Given the description of an element on the screen output the (x, y) to click on. 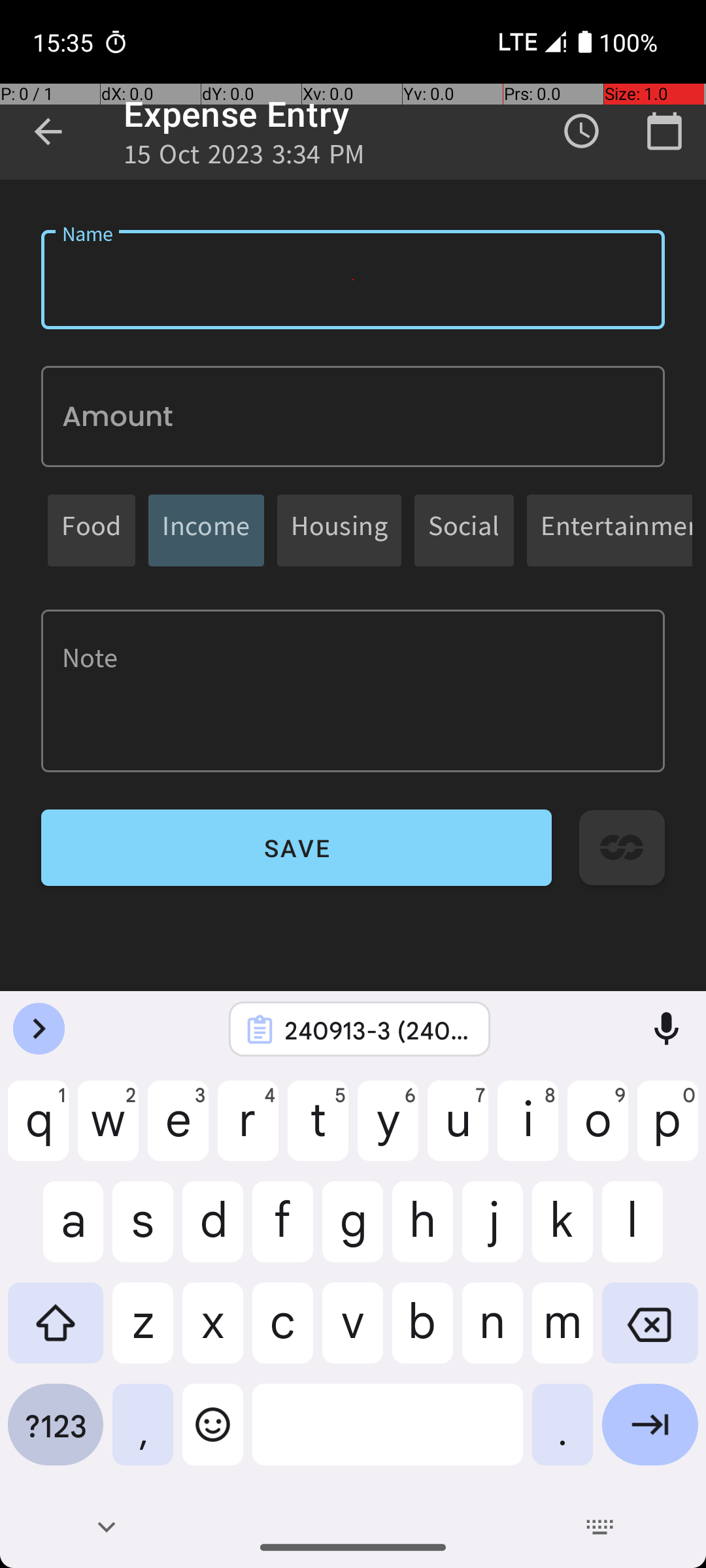
240913-3 (240906-2的from base对照组) Element type: android.widget.TextView (376, 1029)
